Given the description of an element on the screen output the (x, y) to click on. 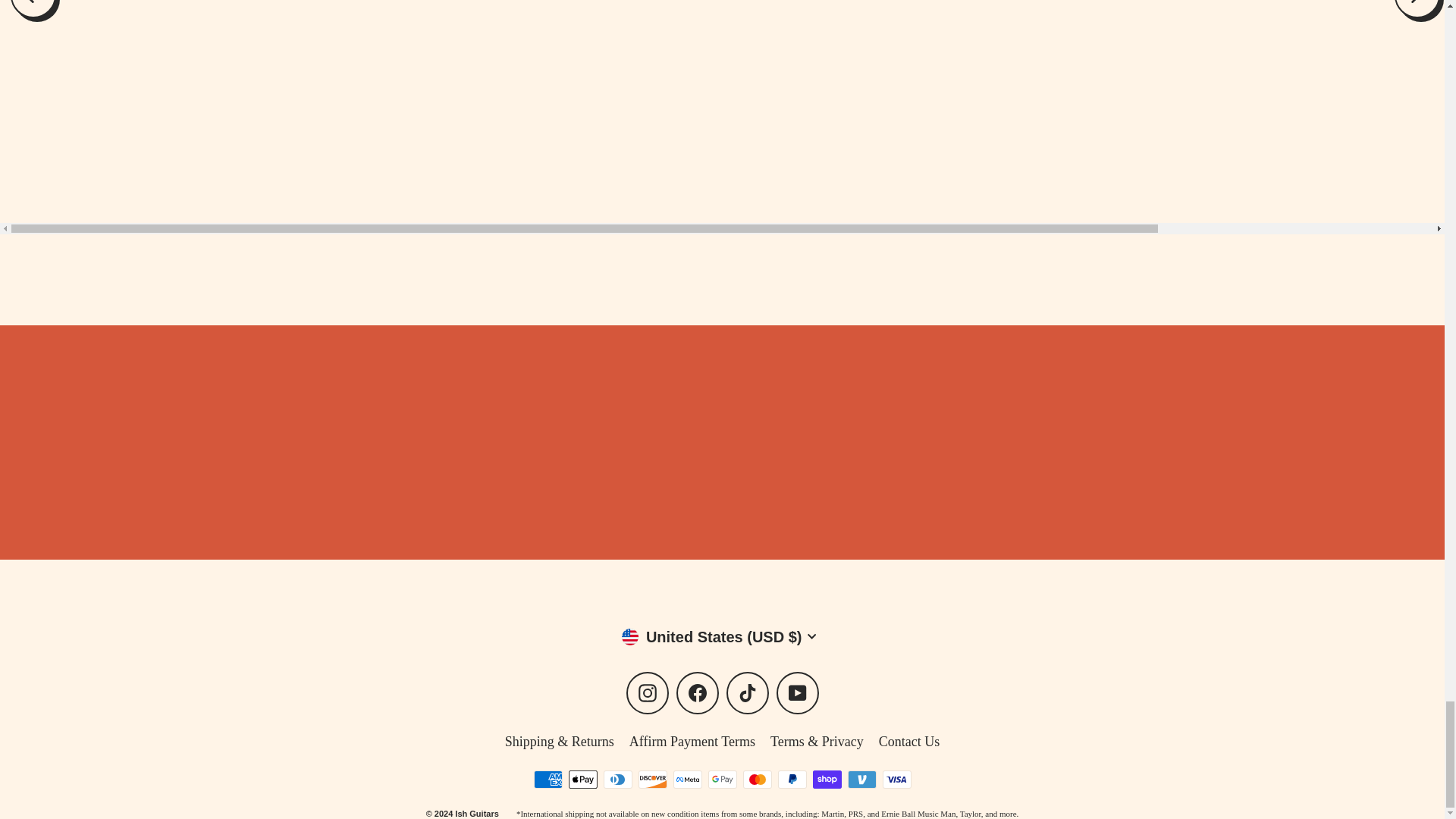
Ish Guitars on Instagram (647, 692)
Ish Guitars on Facebook (698, 692)
Ish Guitars on YouTube (797, 692)
Ish Guitars on TikTok (747, 692)
